Given the description of an element on the screen output the (x, y) to click on. 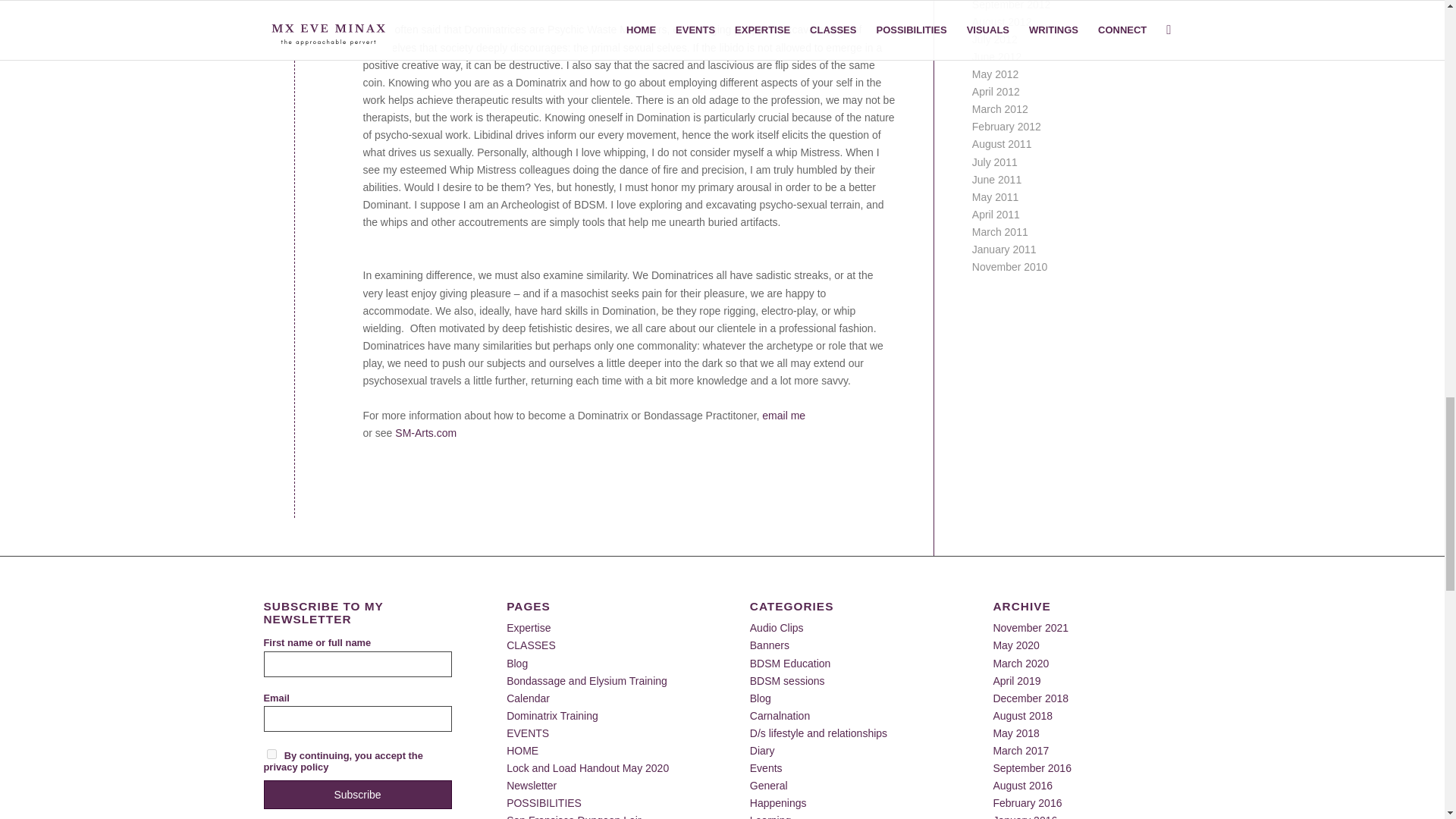
email me (783, 415)
on (271, 754)
Subscribe (357, 794)
SM-Arts.com (425, 432)
